Given the description of an element on the screen output the (x, y) to click on. 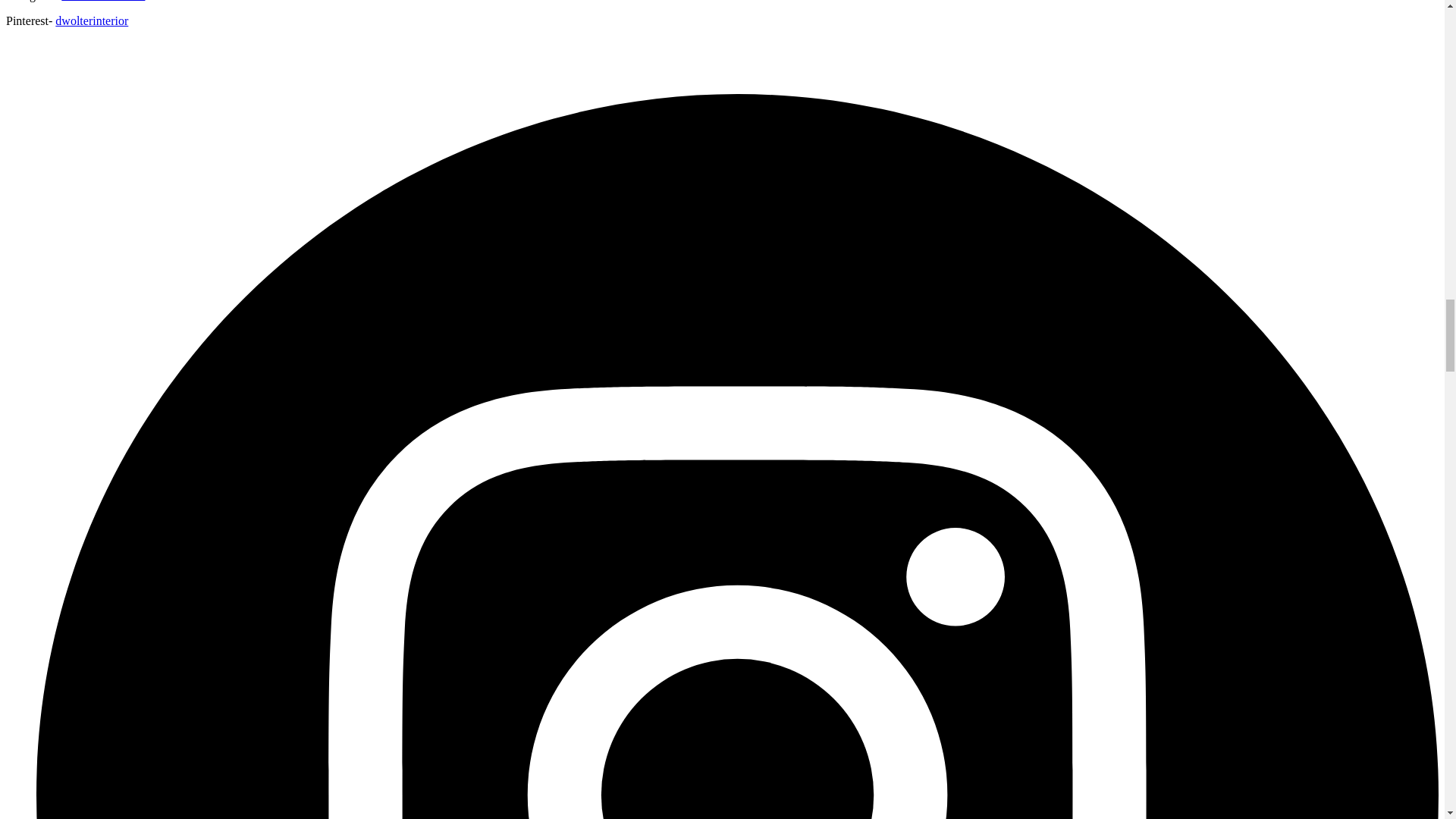
dwolterinterior (91, 20)
DANAWOLTER (102, 0)
